Given the description of an element on the screen output the (x, y) to click on. 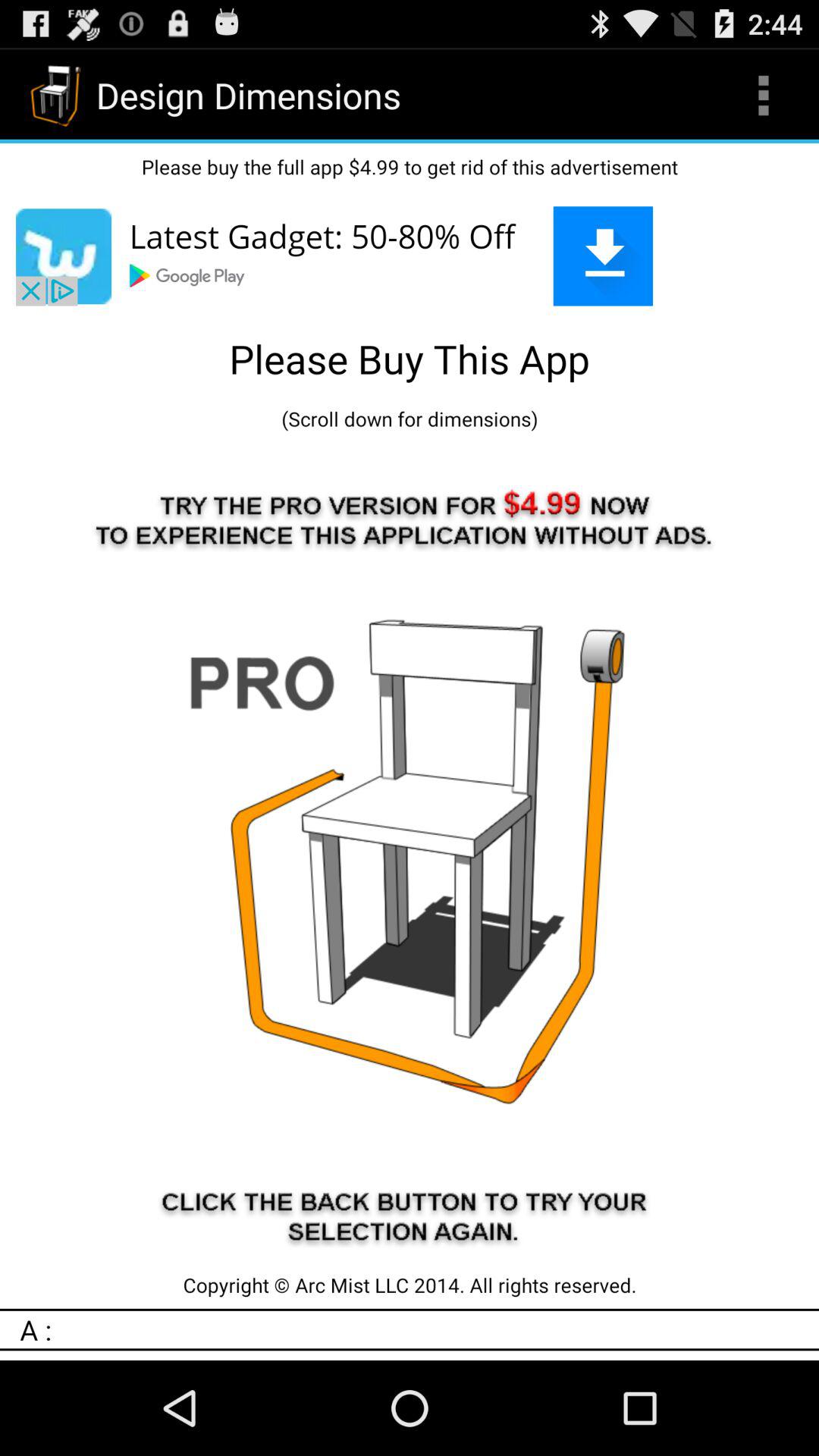
scroll until the a :  icon (419, 1329)
